Given the description of an element on the screen output the (x, y) to click on. 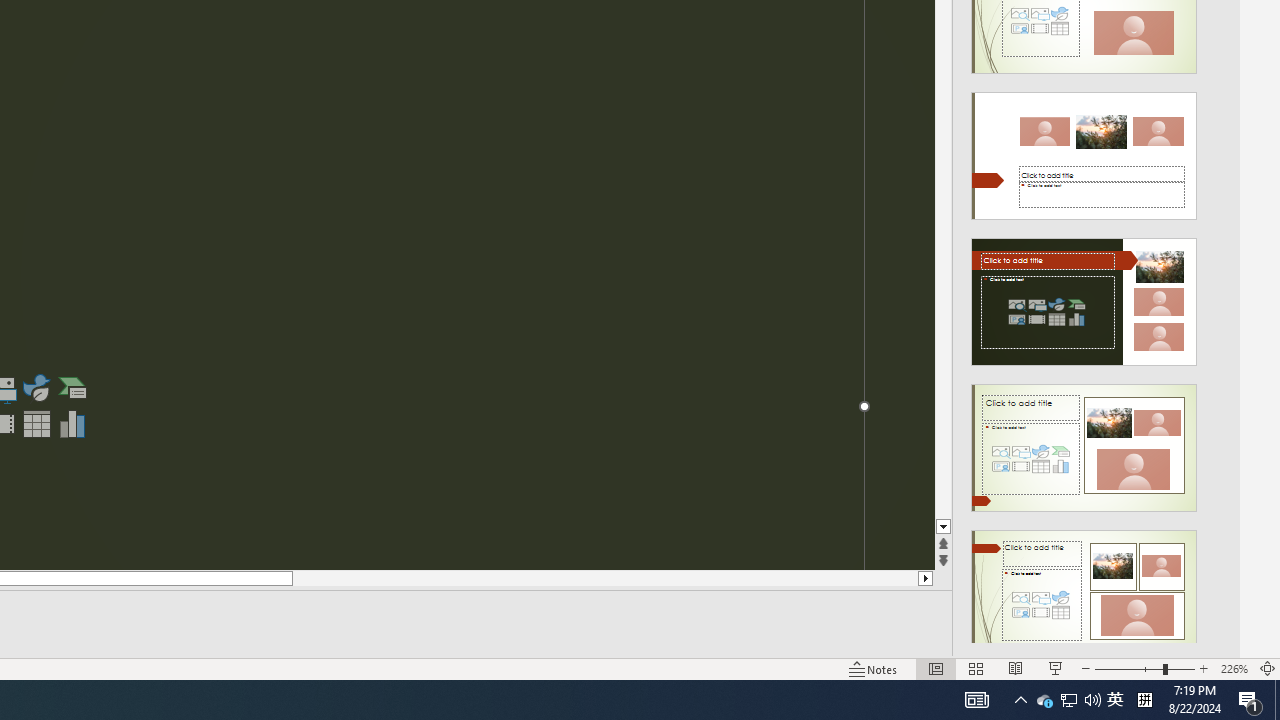
Insert a SmartArt Graphic (73, 387)
Insert Table (36, 423)
